Given the description of an element on the screen output the (x, y) to click on. 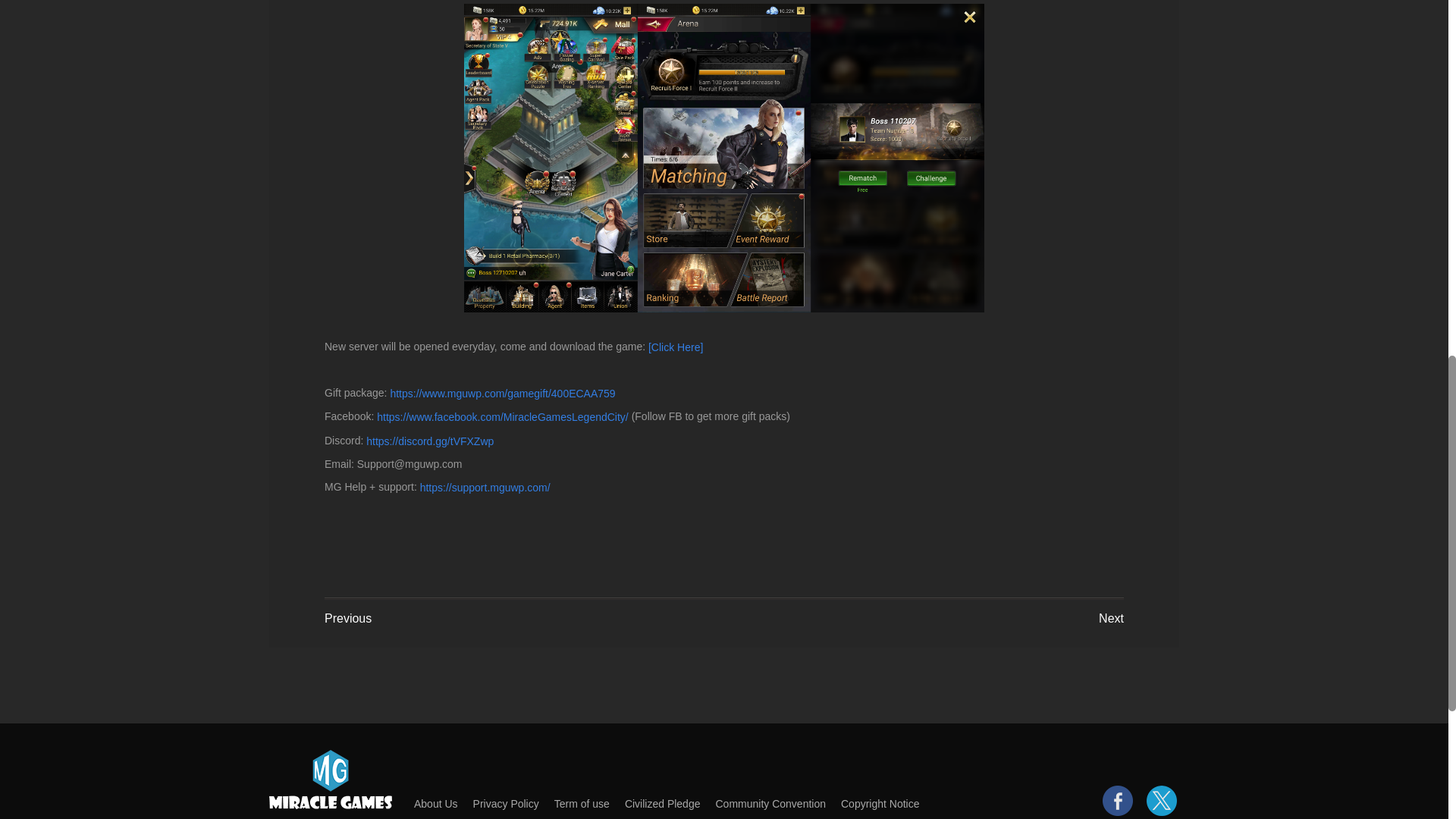
Previous (347, 618)
